Given the description of an element on the screen output the (x, y) to click on. 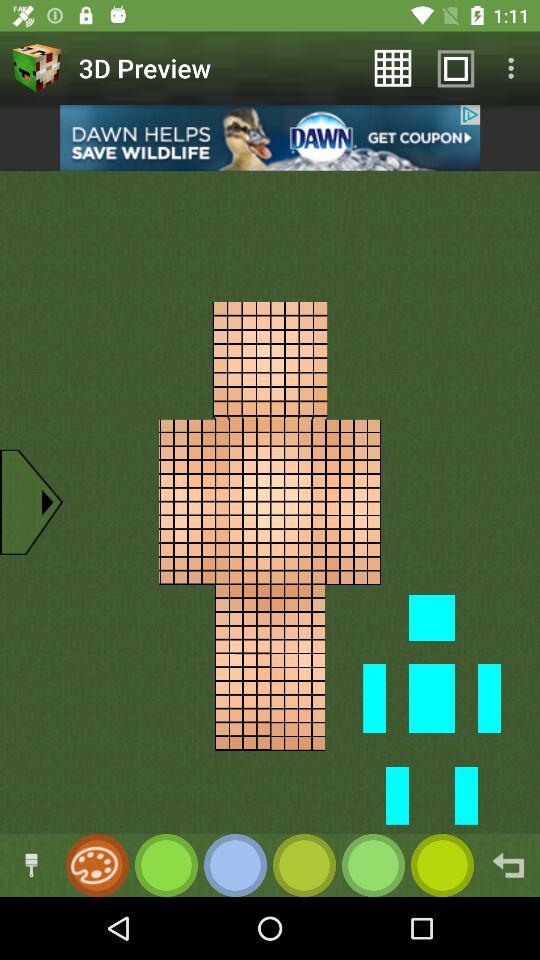
select a color (373, 865)
